Given the description of an element on the screen output the (x, y) to click on. 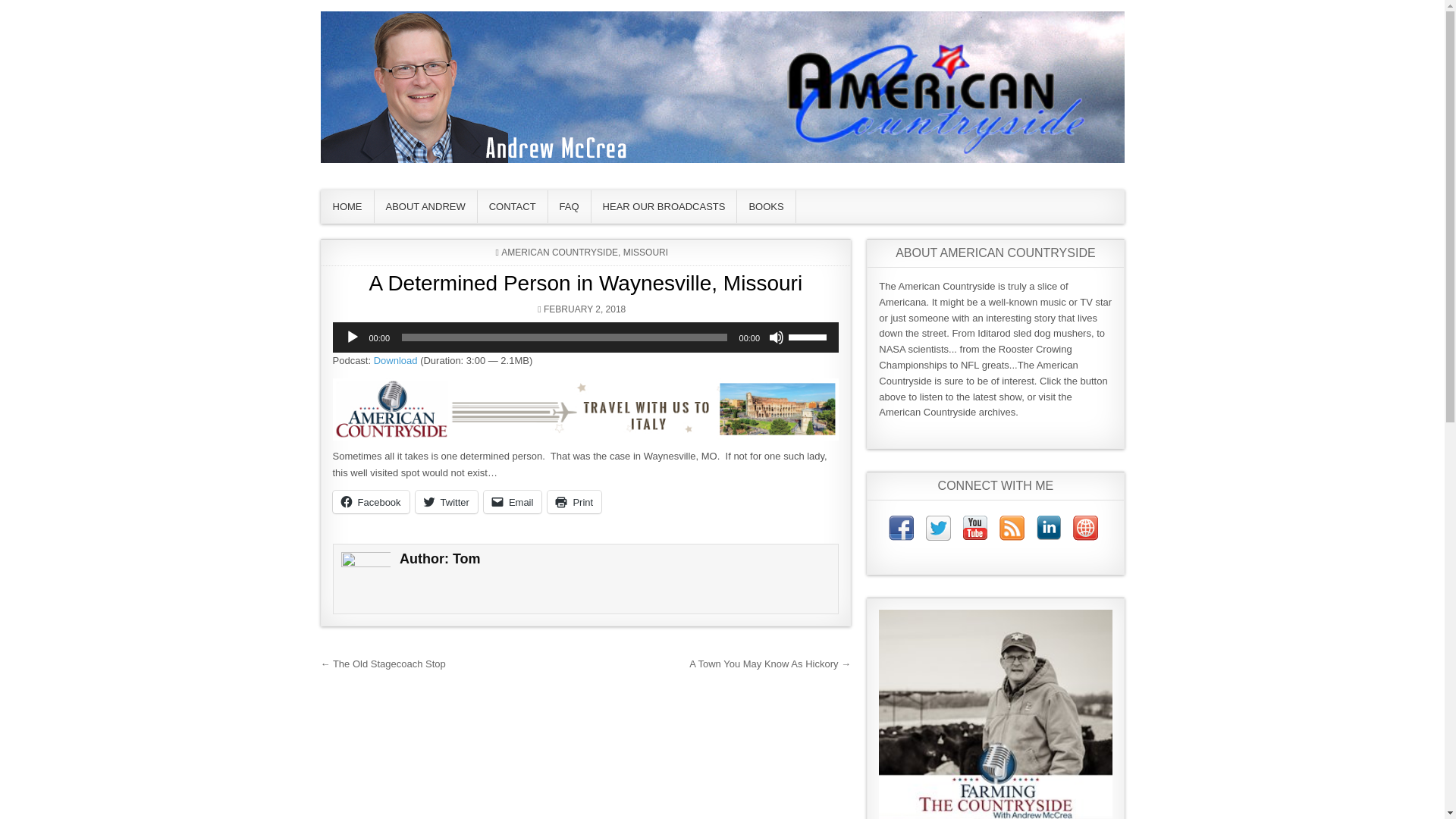
Facebook (370, 501)
Click to share on Twitter (445, 501)
Click to print (574, 501)
Download (395, 360)
Mute (776, 337)
A Determined Person in Waynesville, Missouri (585, 282)
Link to my Youtube Page (974, 530)
Twitter (445, 501)
MISSOURI (645, 252)
FAQ (569, 206)
HOME (347, 206)
Print (574, 501)
Email (512, 501)
Link to my Facebook Page (901, 530)
Play (351, 337)
